Given the description of an element on the screen output the (x, y) to click on. 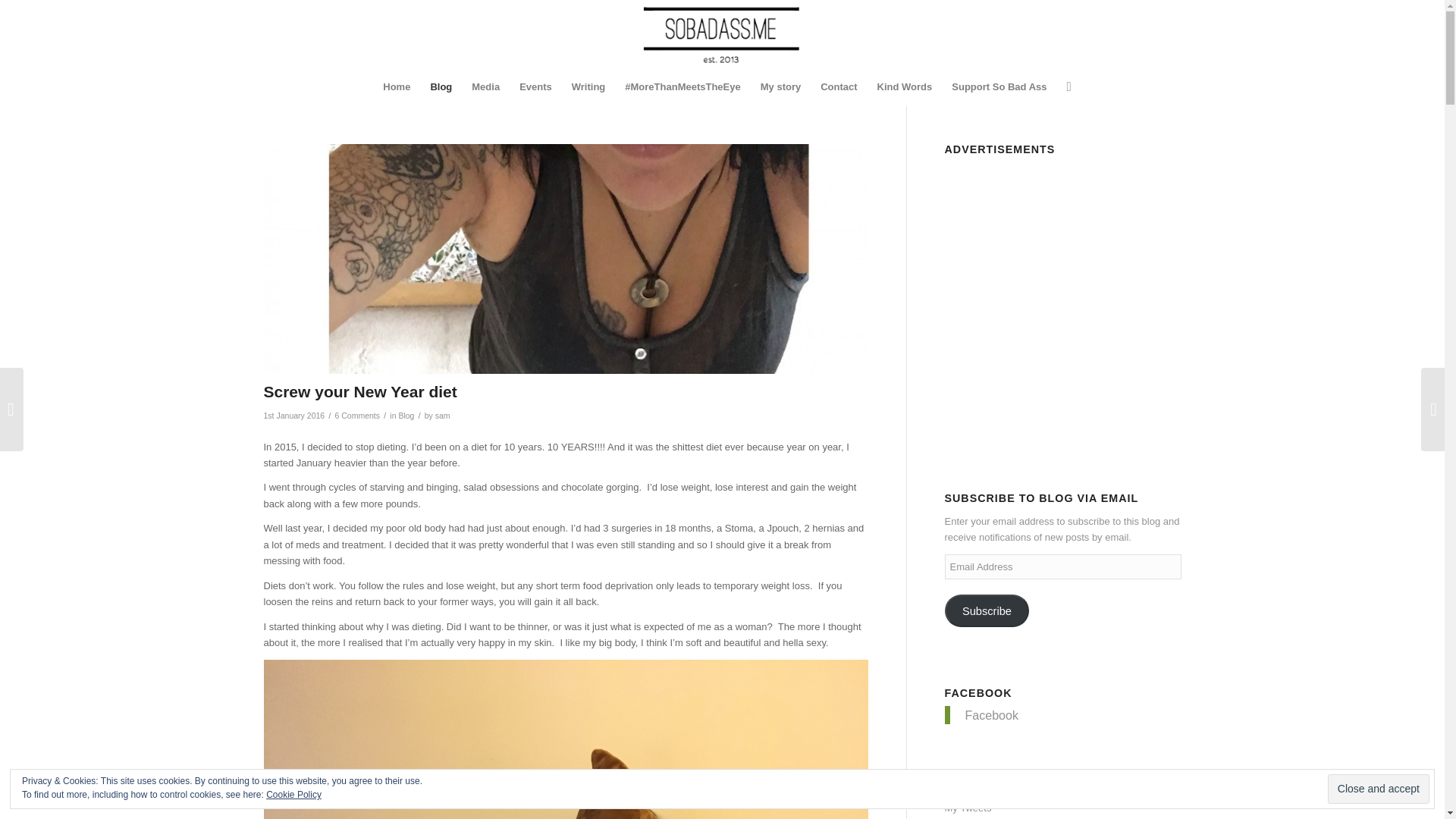
6 Comments (357, 415)
Support So Bad Ass (999, 86)
Kind Words (904, 86)
Blog (440, 86)
Media (485, 86)
sam (442, 415)
Close and accept (1378, 788)
Posts by sam (442, 415)
Contact (838, 86)
My story (780, 86)
